Given the description of an element on the screen output the (x, y) to click on. 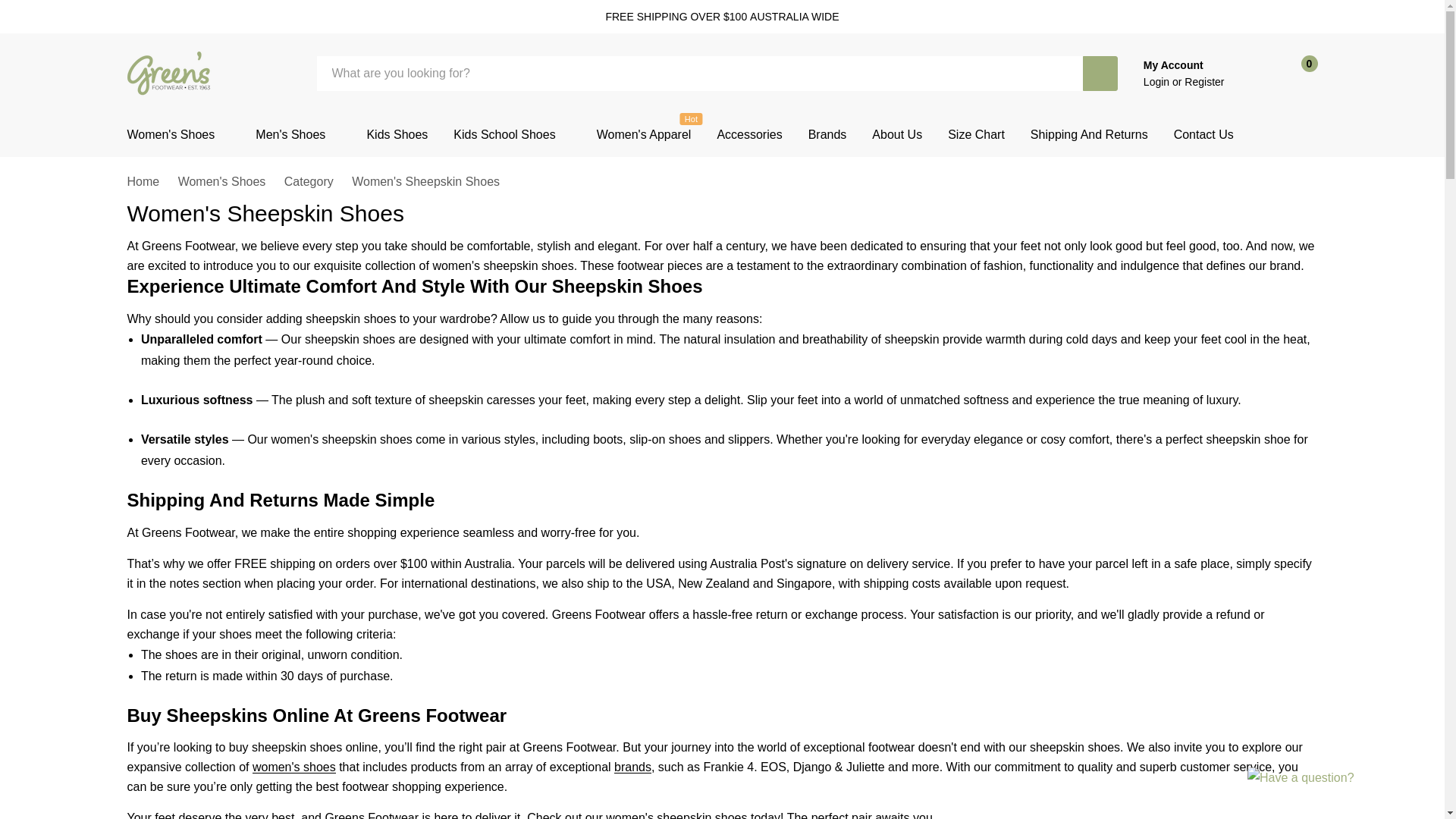
Greens Footwear Pty Ltd (170, 72)
Register (1204, 81)
0 (1295, 72)
Women'S Shoes (171, 134)
Login (1157, 81)
